Given the description of an element on the screen output the (x, y) to click on. 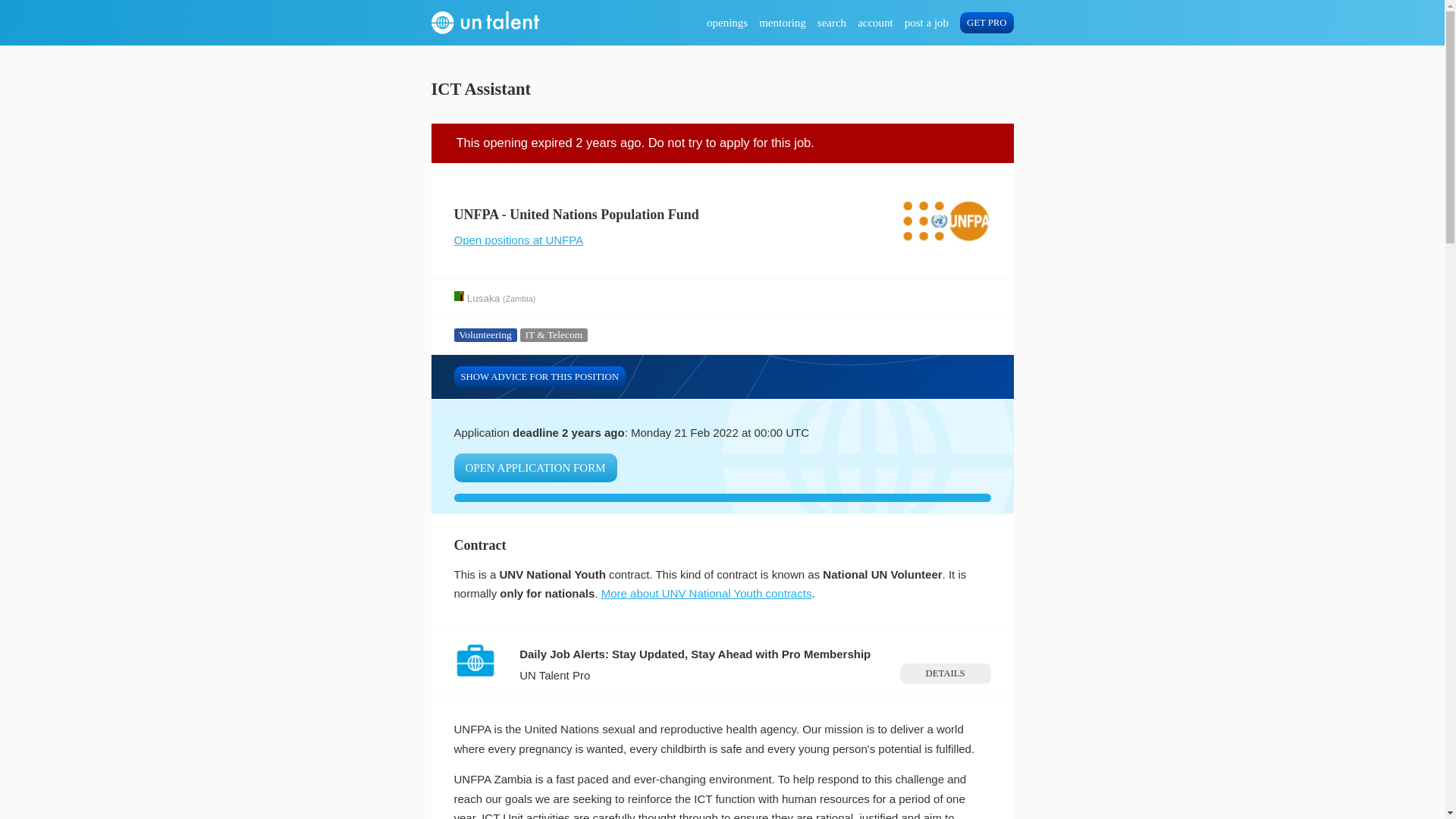
post a job (926, 22)
search (830, 22)
Zambia (518, 297)
GET PRO (986, 22)
Lusaka (483, 297)
openings (727, 22)
Open positions at UNFPA (517, 239)
Volunteering (484, 335)
mentoring (782, 22)
